Given the description of an element on the screen output the (x, y) to click on. 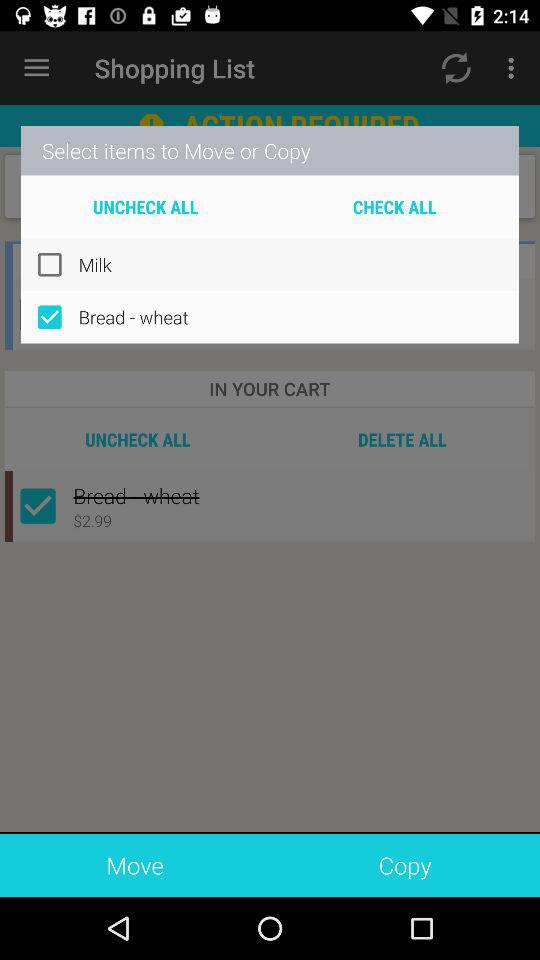
select uncheck all item (145, 206)
